Given the description of an element on the screen output the (x, y) to click on. 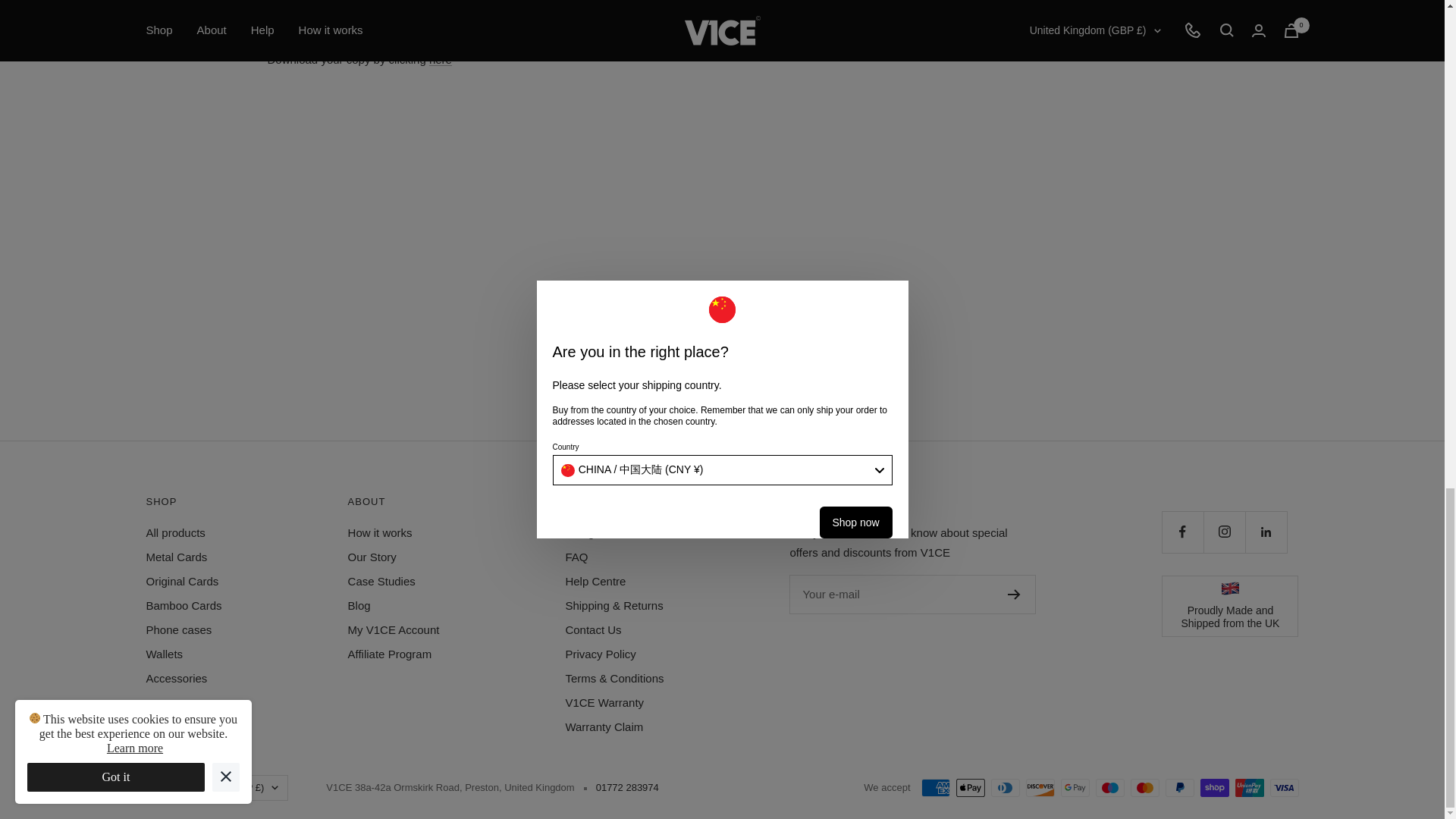
Register (1013, 593)
